Given the description of an element on the screen output the (x, y) to click on. 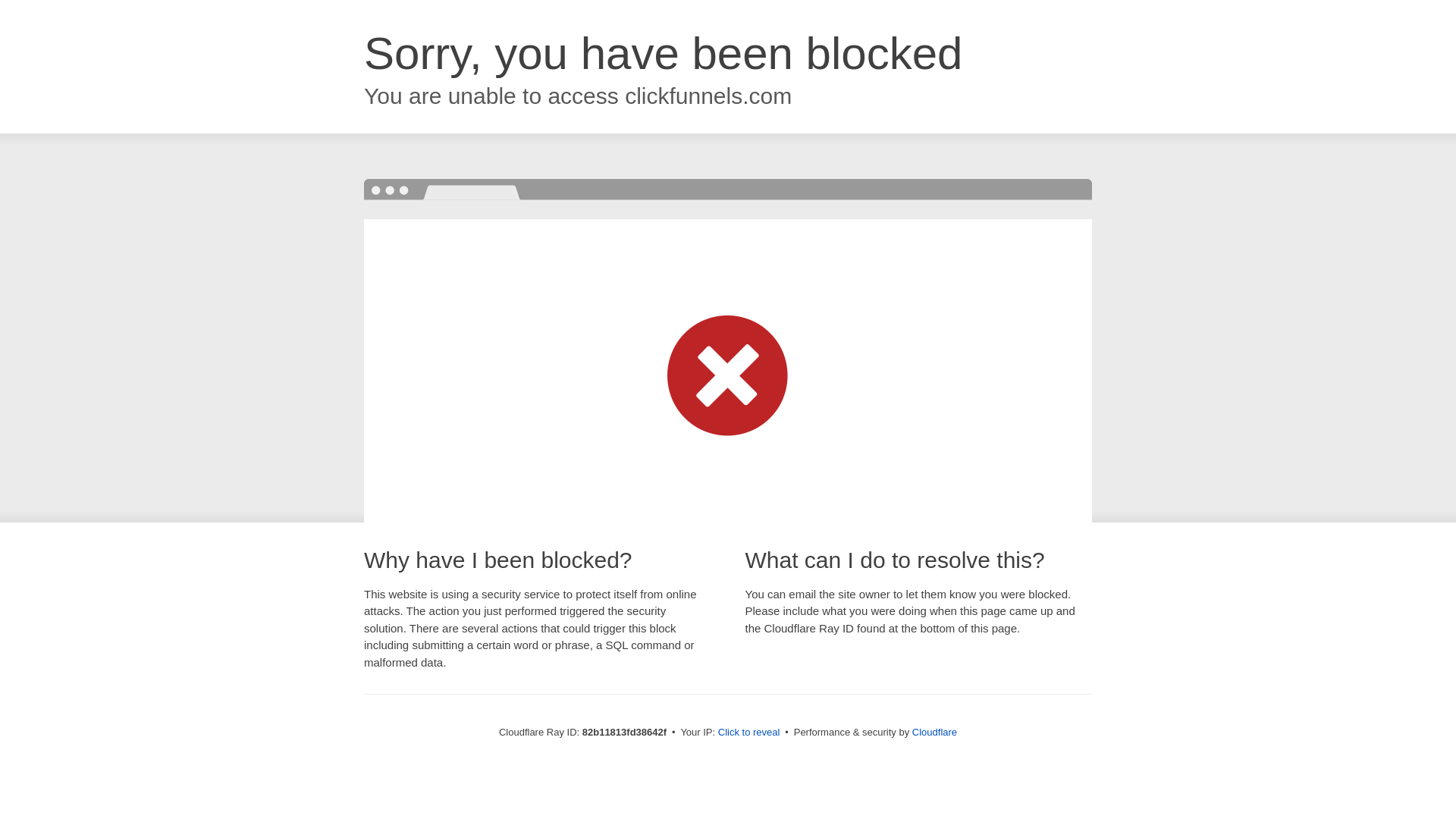
Cloudflare Element type: text (934, 731)
Click to reveal Element type: text (749, 732)
